Given the description of an element on the screen output the (x, y) to click on. 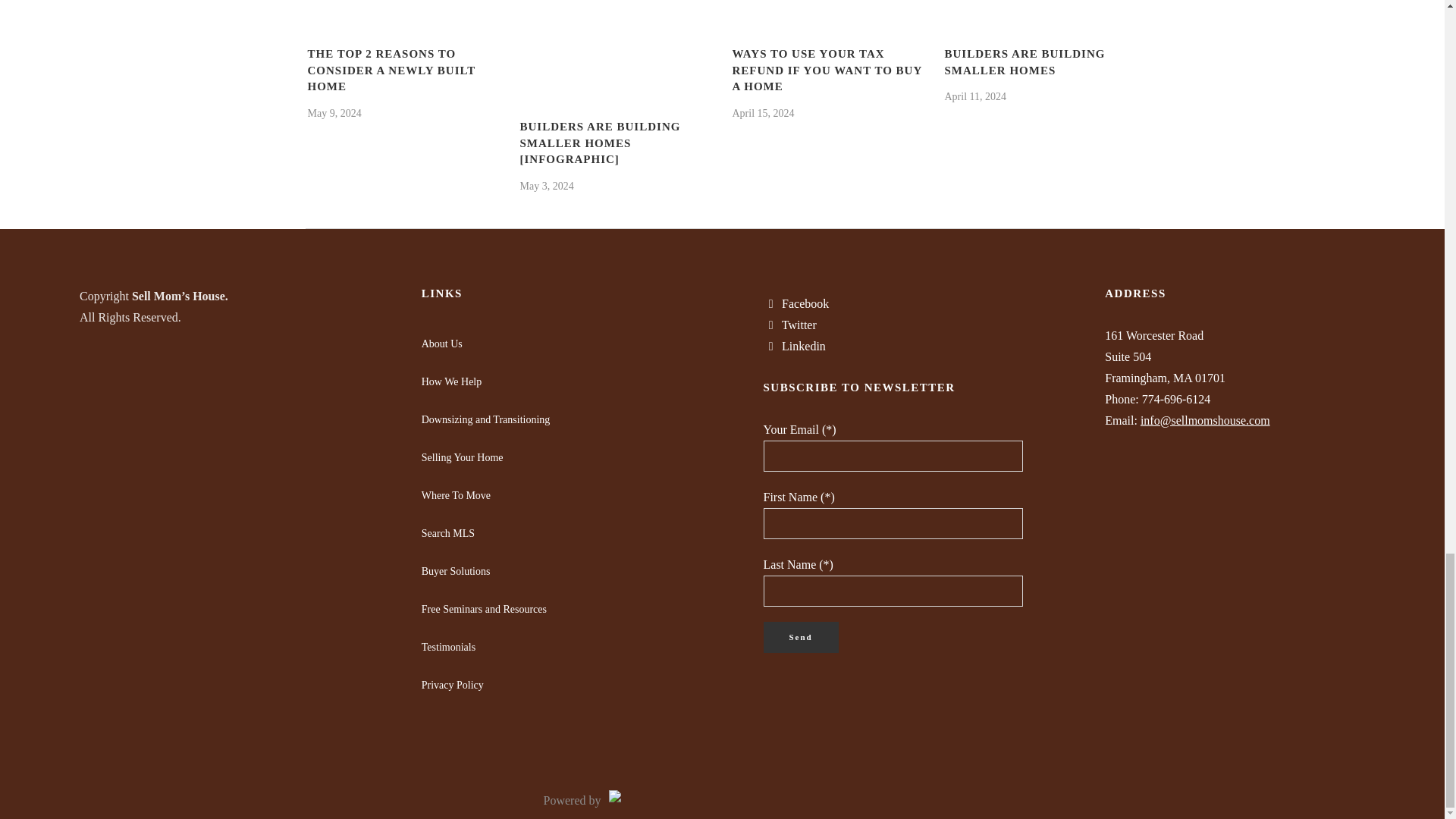
The Top 2 Reasons To Consider a Newly Built Home (403, 9)
THE TOP 2 REASONS TO CONSIDER A NEWLY BUILT HOME (391, 69)
Ways To Use Your Tax Refund If You Want To Buy a Home (828, 9)
Builders Are Building Smaller Homes (1024, 61)
May 9, 2024 (334, 112)
Send (800, 636)
Builders Are Building Smaller Homes (1040, 9)
Ways To Use Your Tax Refund If You Want To Buy a Home (826, 69)
The Top 2 Reasons To Consider a Newly Built Home (391, 69)
